Given the description of an element on the screen output the (x, y) to click on. 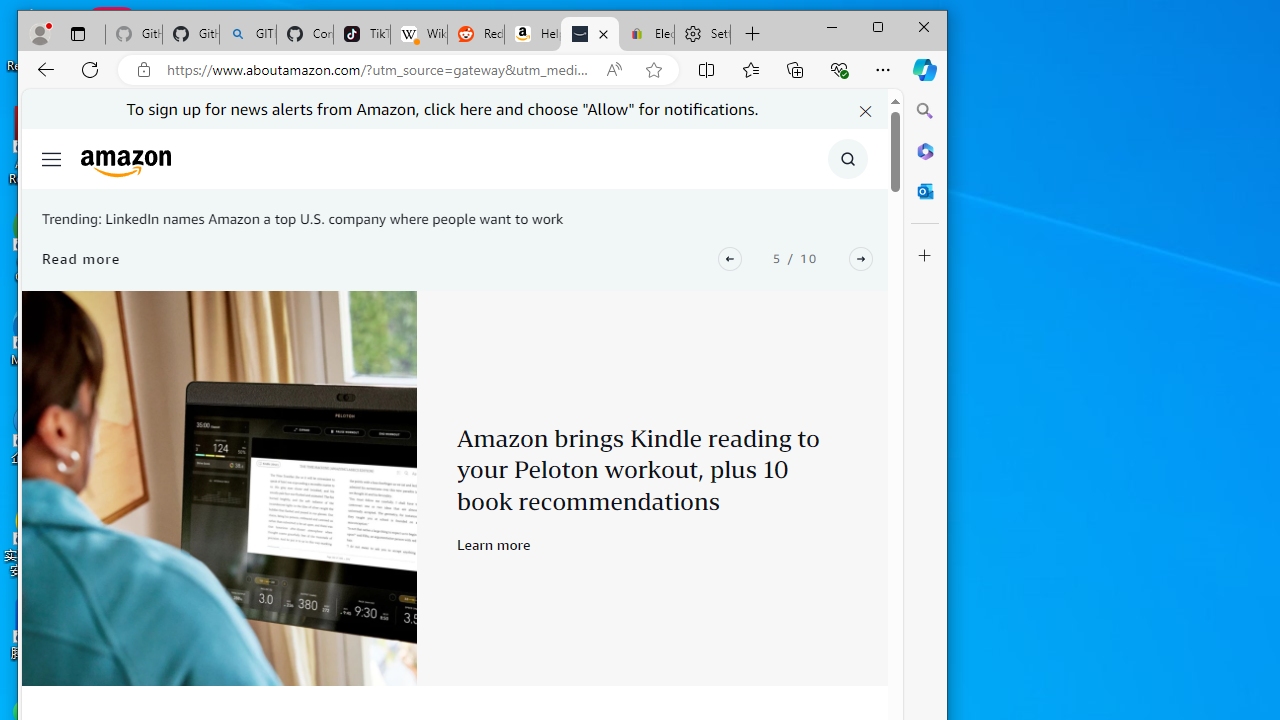
Class: burger-menu (51, 159)
Learn more (493, 544)
GITHUB - Search (248, 34)
Wikipedia, the free encyclopedia (418, 34)
